Given the description of an element on the screen output the (x, y) to click on. 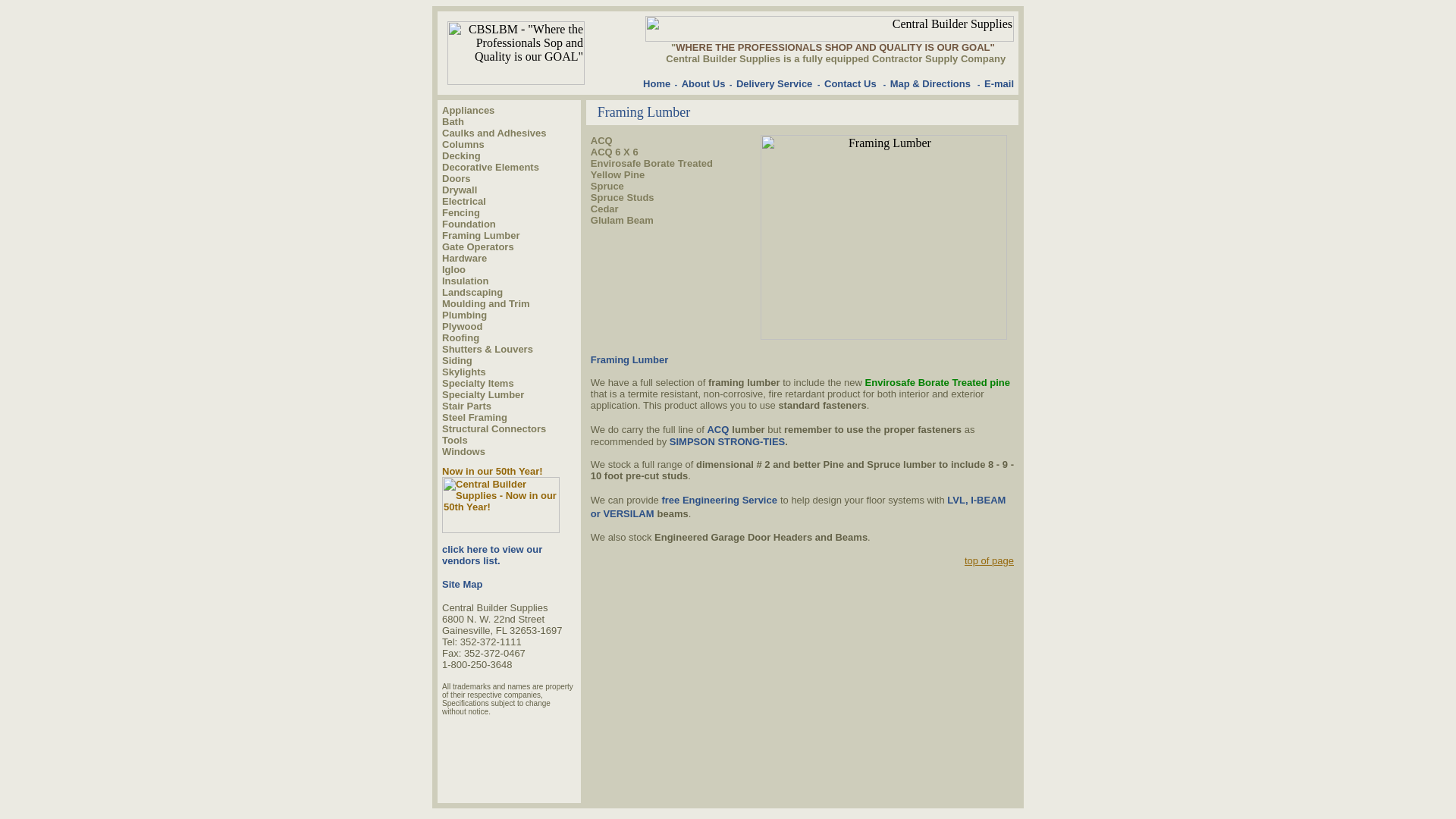
Insulation (464, 279)
About Us (703, 82)
Structural Connectors (494, 427)
Decorative Elements (490, 165)
Contact Us (850, 83)
Specialty Items (477, 382)
Hardware (464, 256)
Drywall (459, 188)
Decking (461, 154)
Home (656, 82)
